Given the description of an element on the screen output the (x, y) to click on. 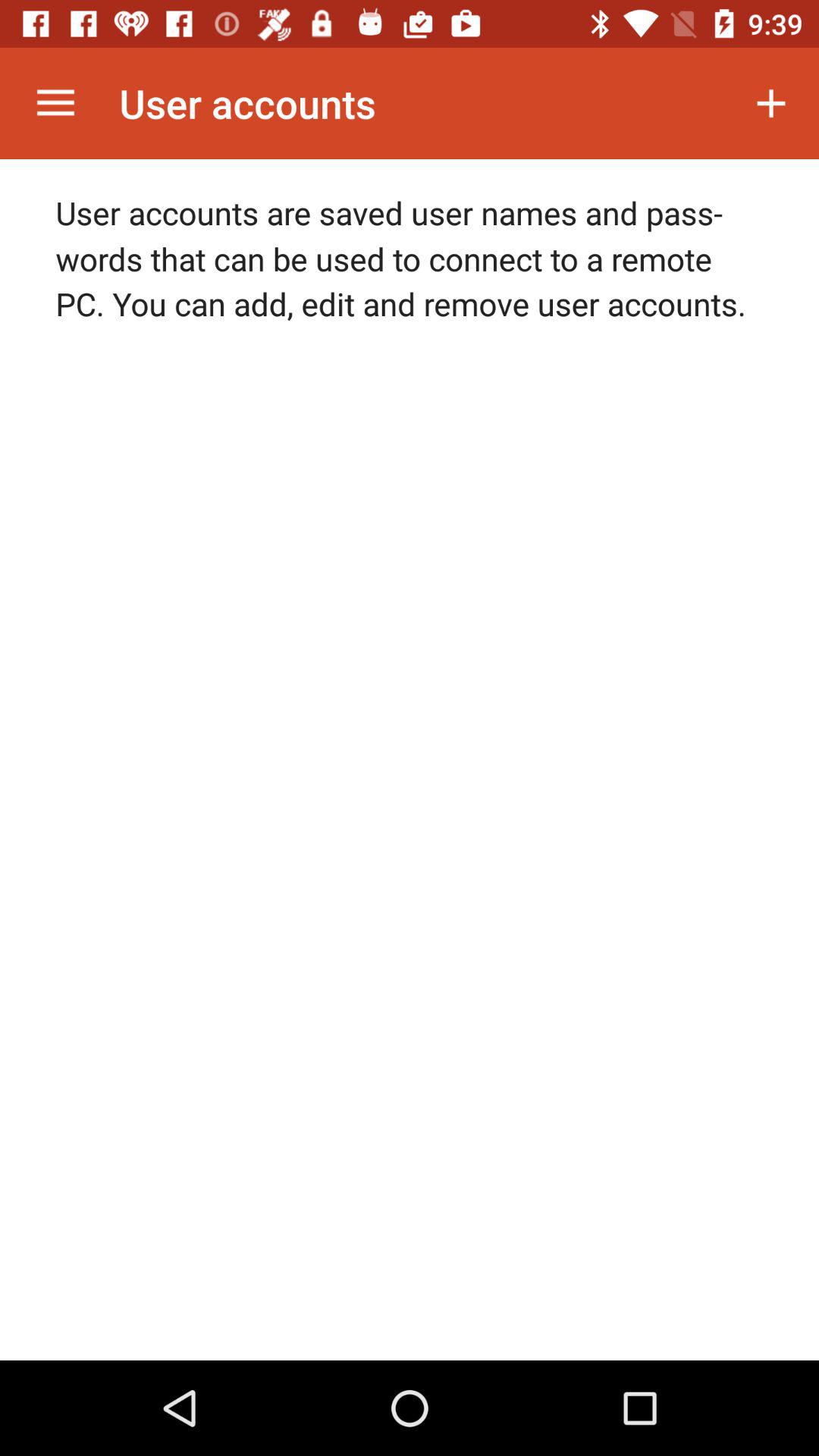
launch icon to the left of the user accounts app (55, 103)
